Given the description of an element on the screen output the (x, y) to click on. 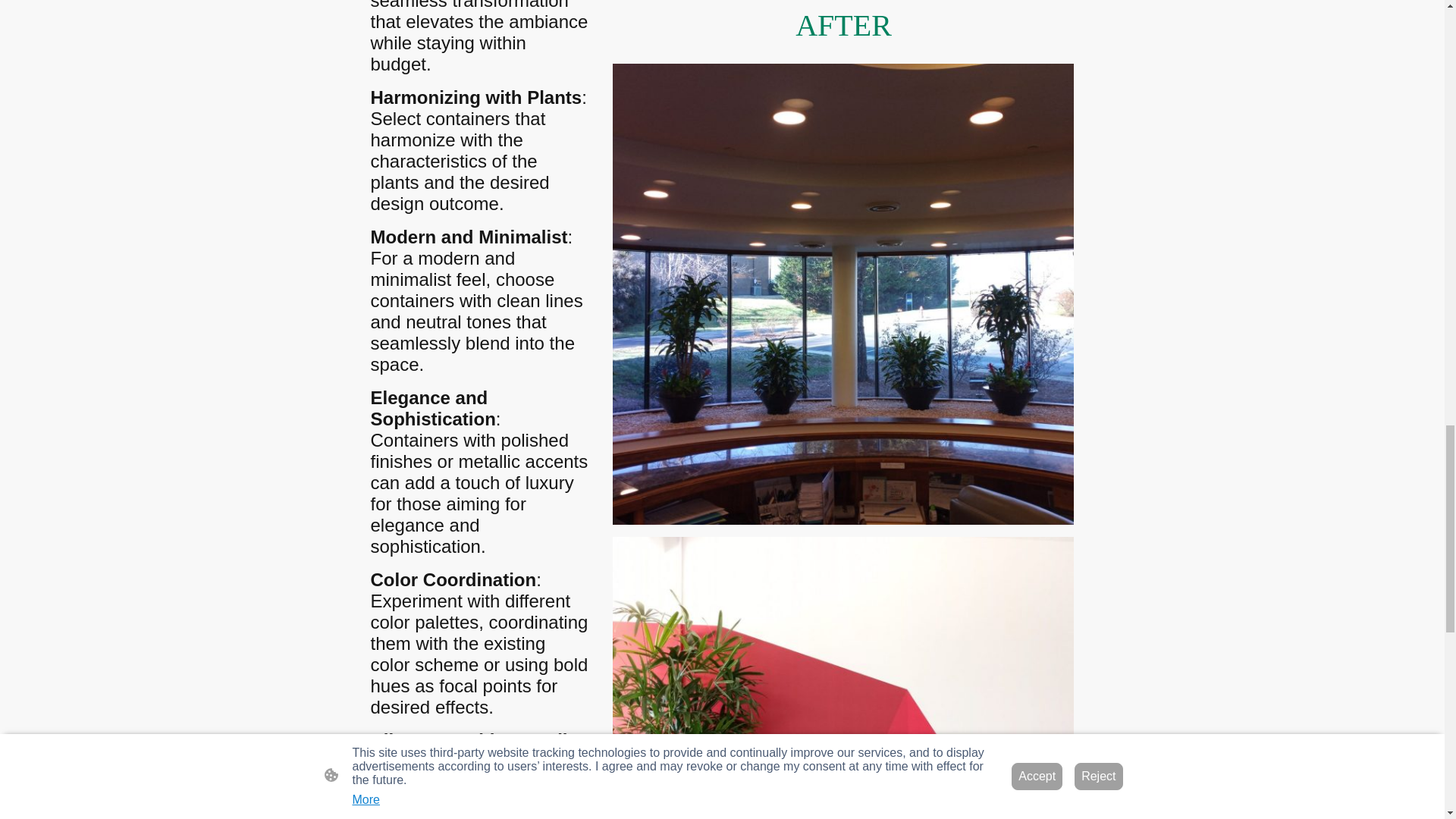
CUSTOMIZED SHAPES AND COLORS (843, 678)
